Given the description of an element on the screen output the (x, y) to click on. 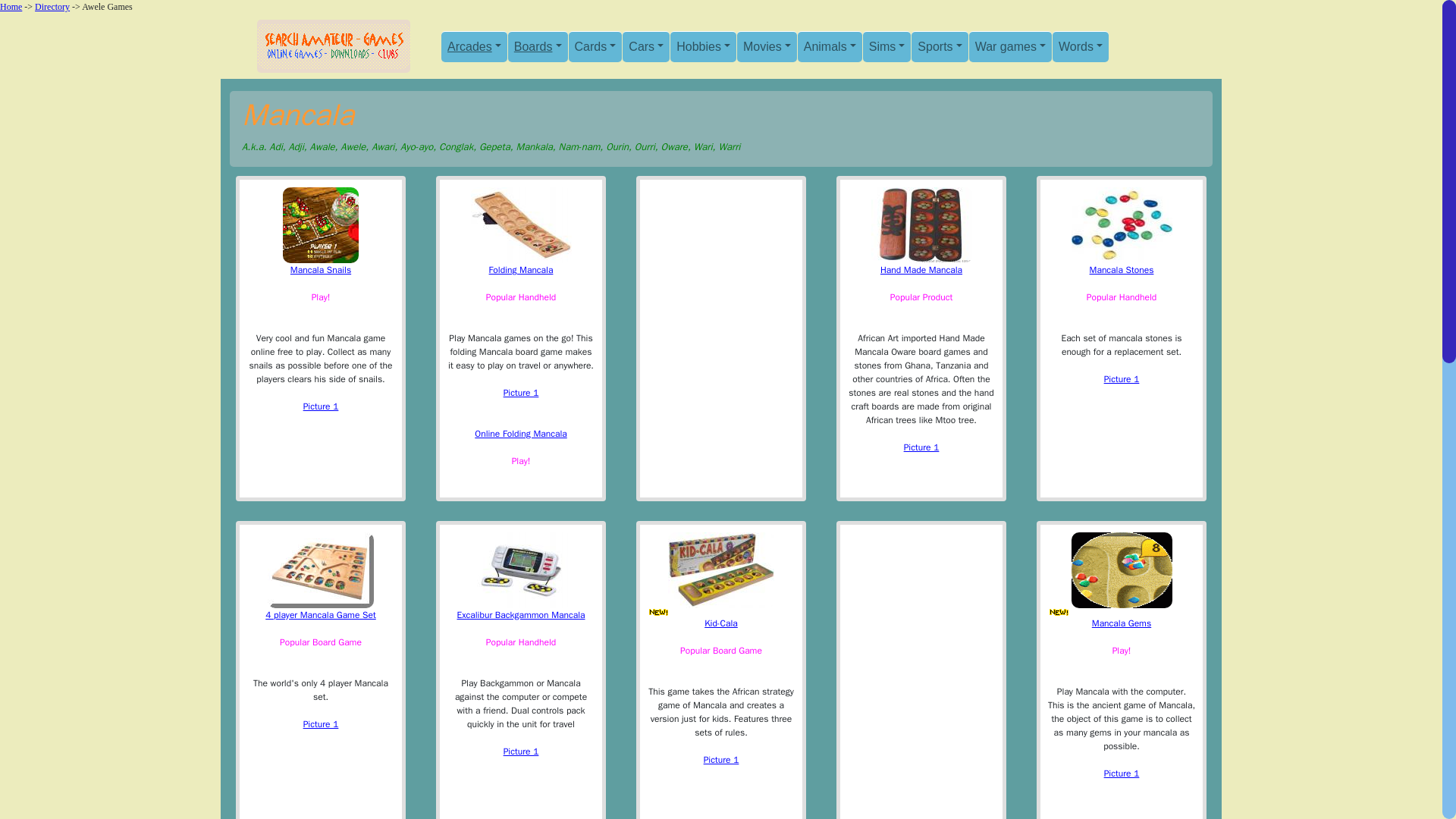
Home (10, 6)
4 player Mancala Game Set 1 (320, 724)
Folding Mancala 1 (520, 392)
Boards (537, 45)
Hand Made African Mancala board game (921, 447)
Mancala Stones 1 (1121, 378)
Cards (596, 45)
Directory (51, 6)
Excalibur Backgammon Mancala handheld electronic (520, 751)
Mancala Gems 1 (1121, 773)
Mancala Snails 1 (320, 406)
Arcades (473, 45)
Kid-Cala 1 (720, 759)
